Given the description of an element on the screen output the (x, y) to click on. 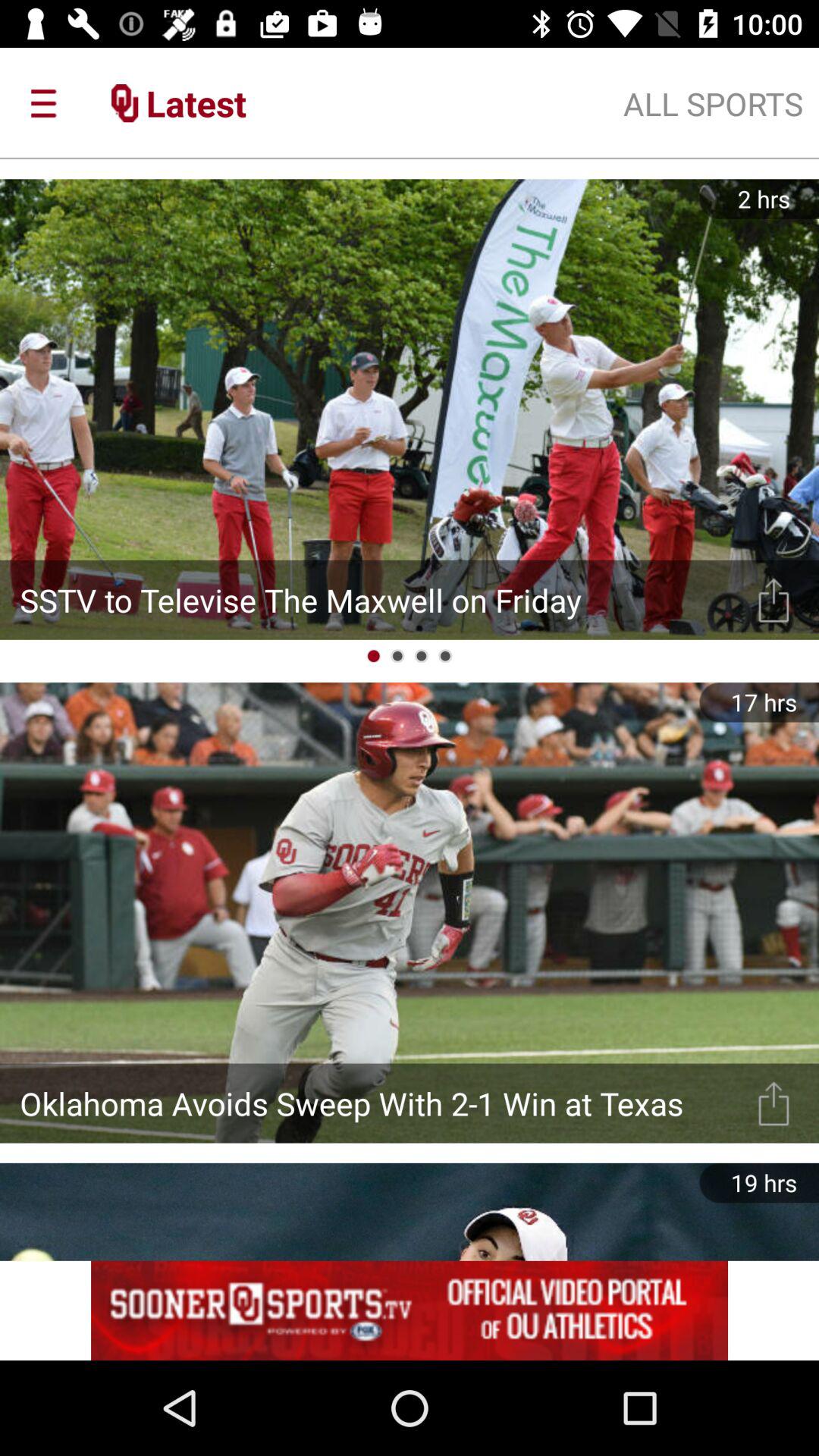
send content (773, 1103)
